Given the description of an element on the screen output the (x, y) to click on. 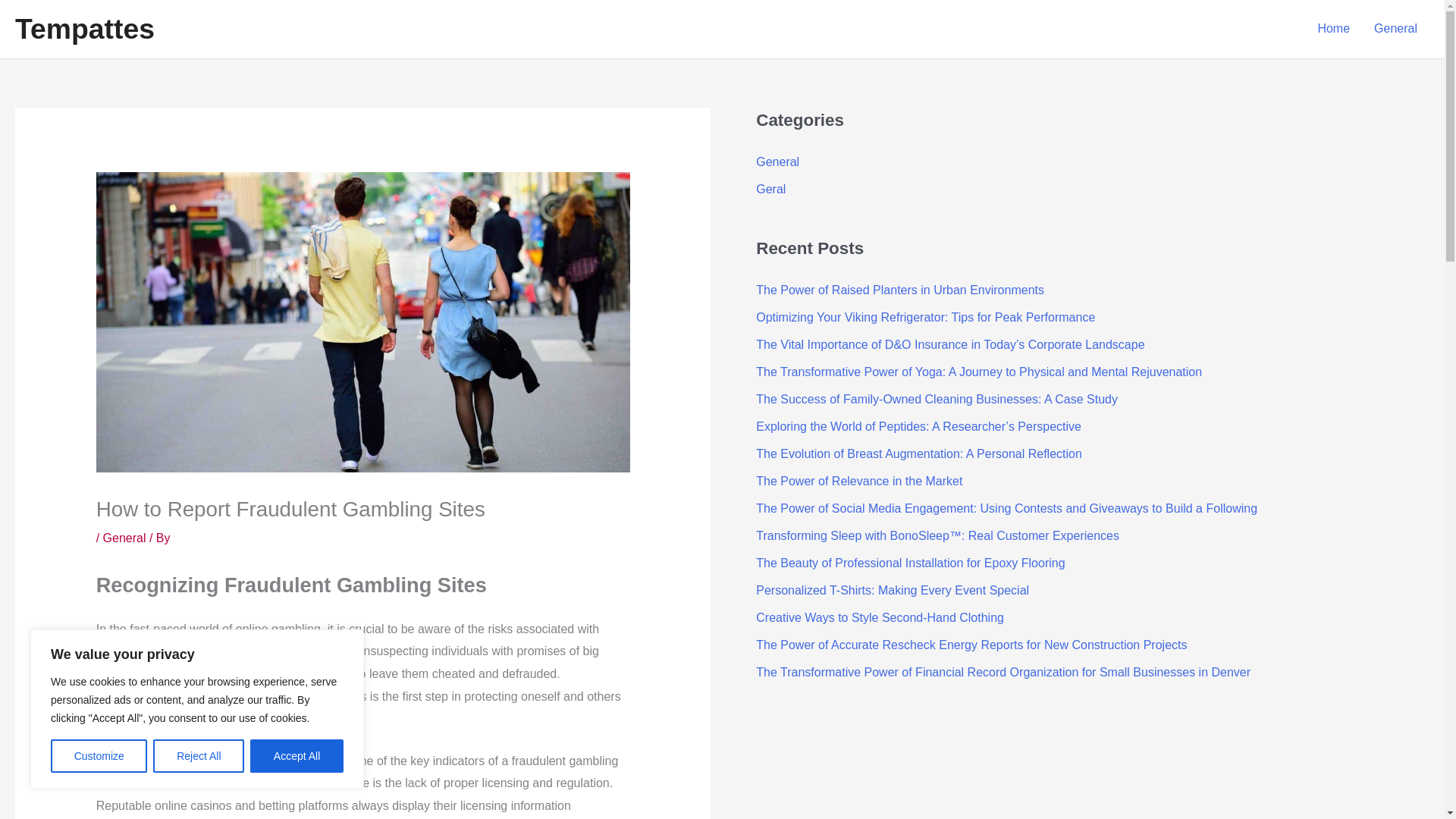
General (1395, 28)
Accept All (296, 756)
General (777, 161)
Customize (98, 756)
Reject All (198, 756)
General (125, 537)
Home (1332, 28)
Geral (770, 188)
